Given the description of an element on the screen output the (x, y) to click on. 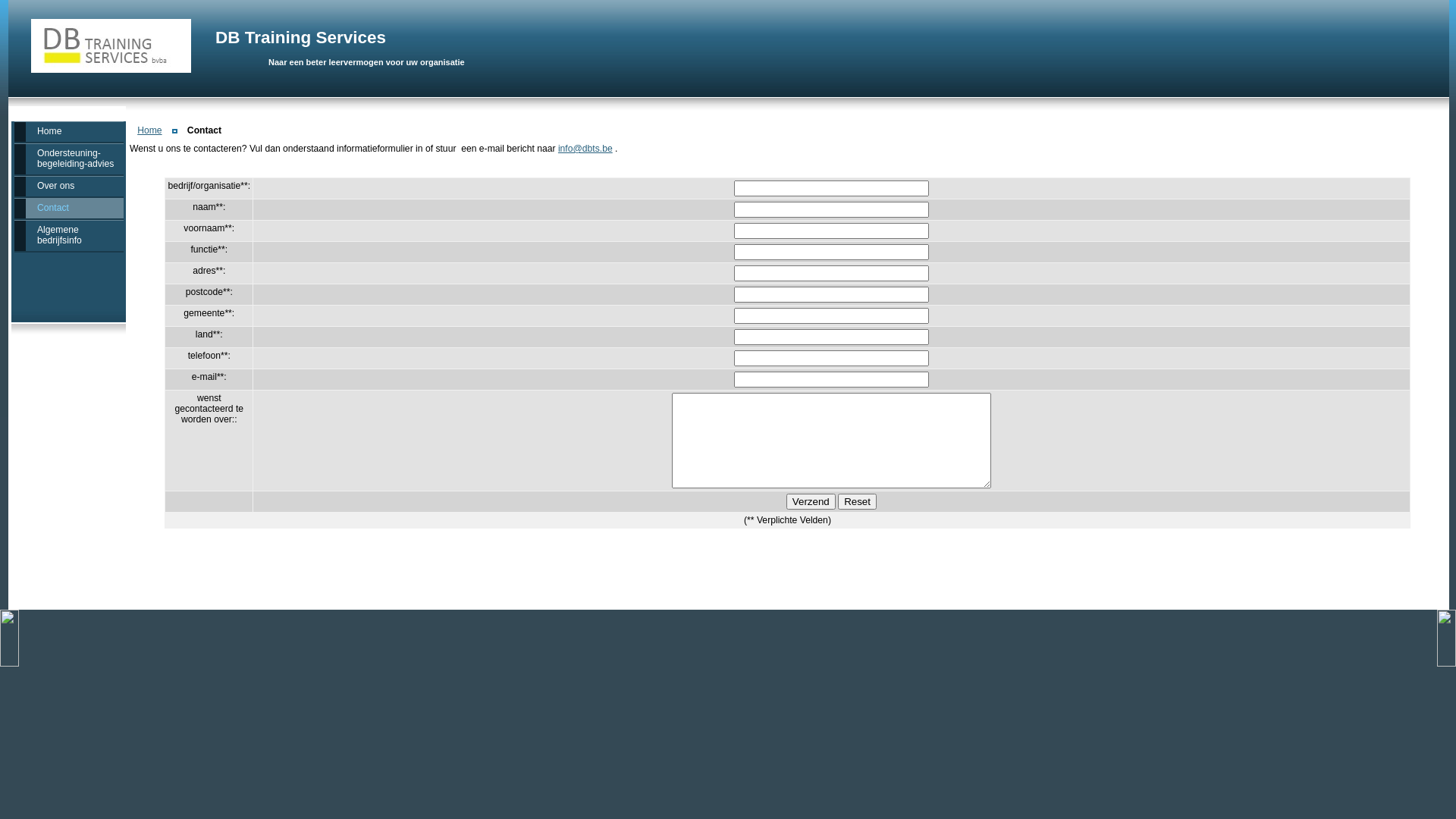
Over ons Element type: text (68, 186)
Algemene bedrijfsinfo Element type: text (68, 235)
Ondersteuning-begeleiding-advies Element type: text (68, 159)
Home Element type: text (149, 130)
Contact Element type: text (68, 208)
info@dbts.be Element type: text (585, 148)
Verzend Element type: text (810, 501)
Home Element type: text (68, 131)
